Given the description of an element on the screen output the (x, y) to click on. 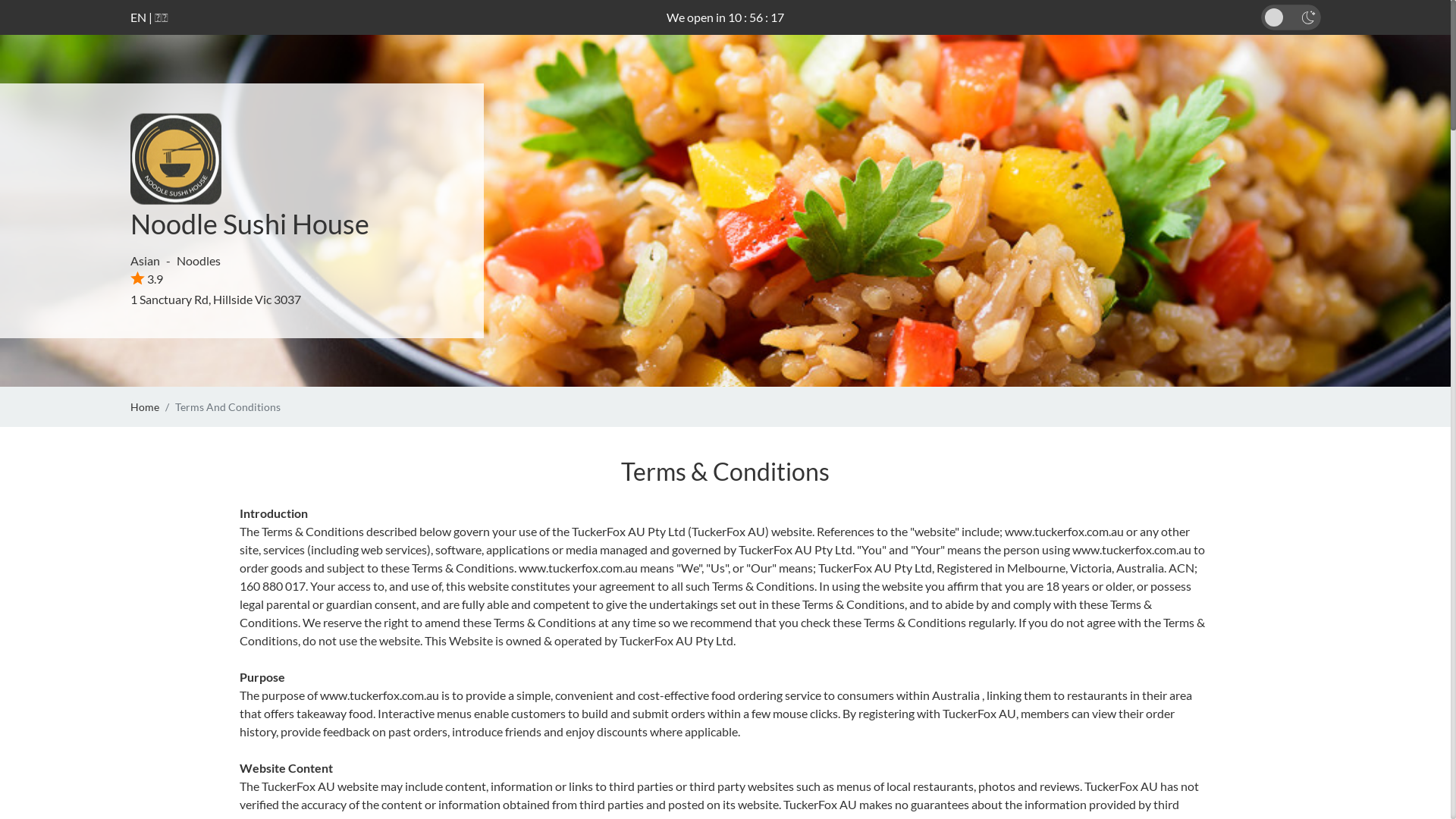
Home Element type: text (144, 406)
EN Element type: text (138, 16)
3.9 Element type: text (146, 278)
Noodle Sushi House Element type: text (249, 223)
